Given the description of an element on the screen output the (x, y) to click on. 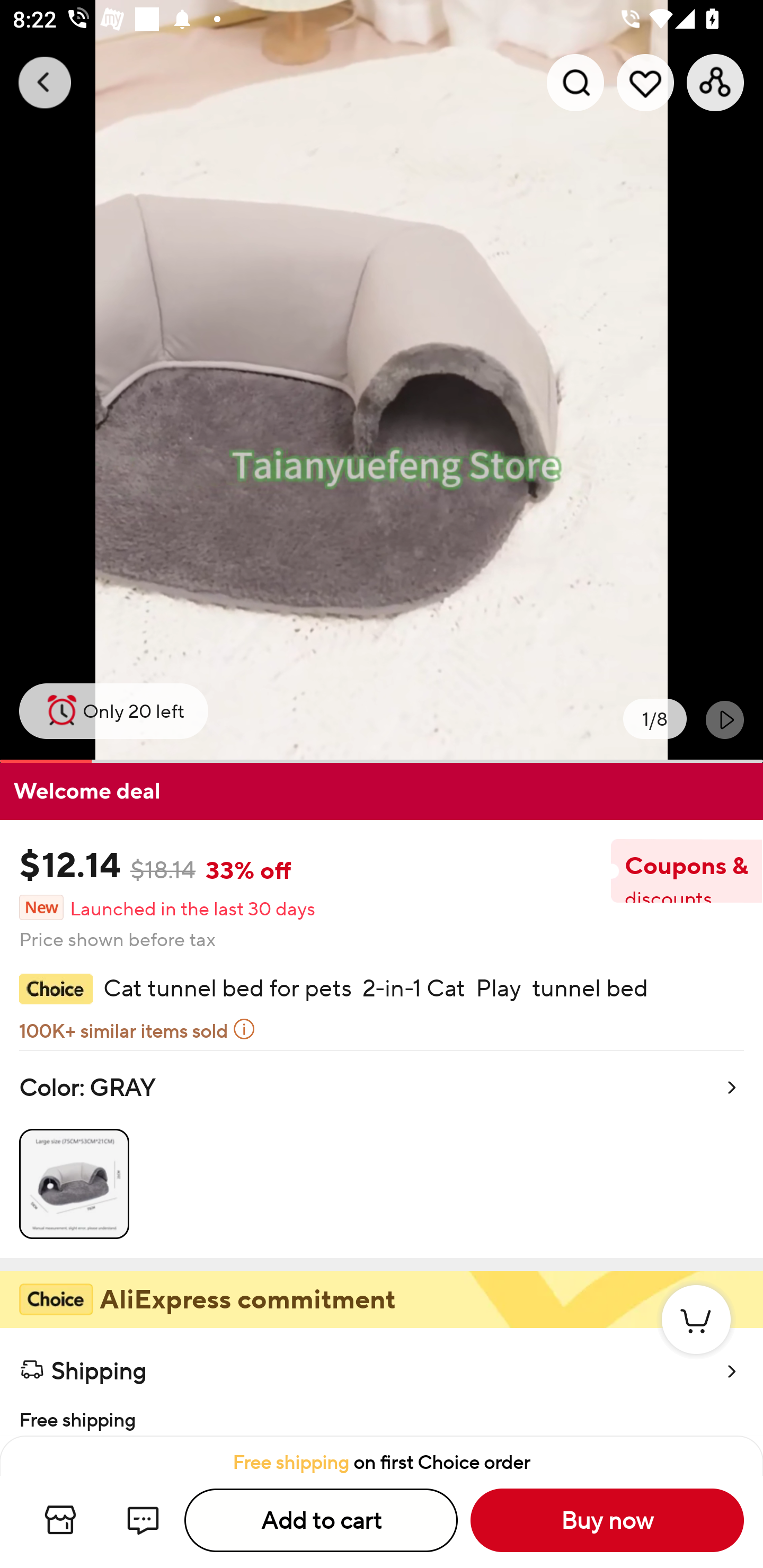
12.0 (381, 381)
Navigate up (44, 82)
 (724, 719)
Color: GRAY  (381, 1153)
Shipping  Free shipping  (381, 1382)
Free shipping  (381, 1414)
Add to cart (320, 1520)
Buy now (606, 1520)
